Given the description of an element on the screen output the (x, y) to click on. 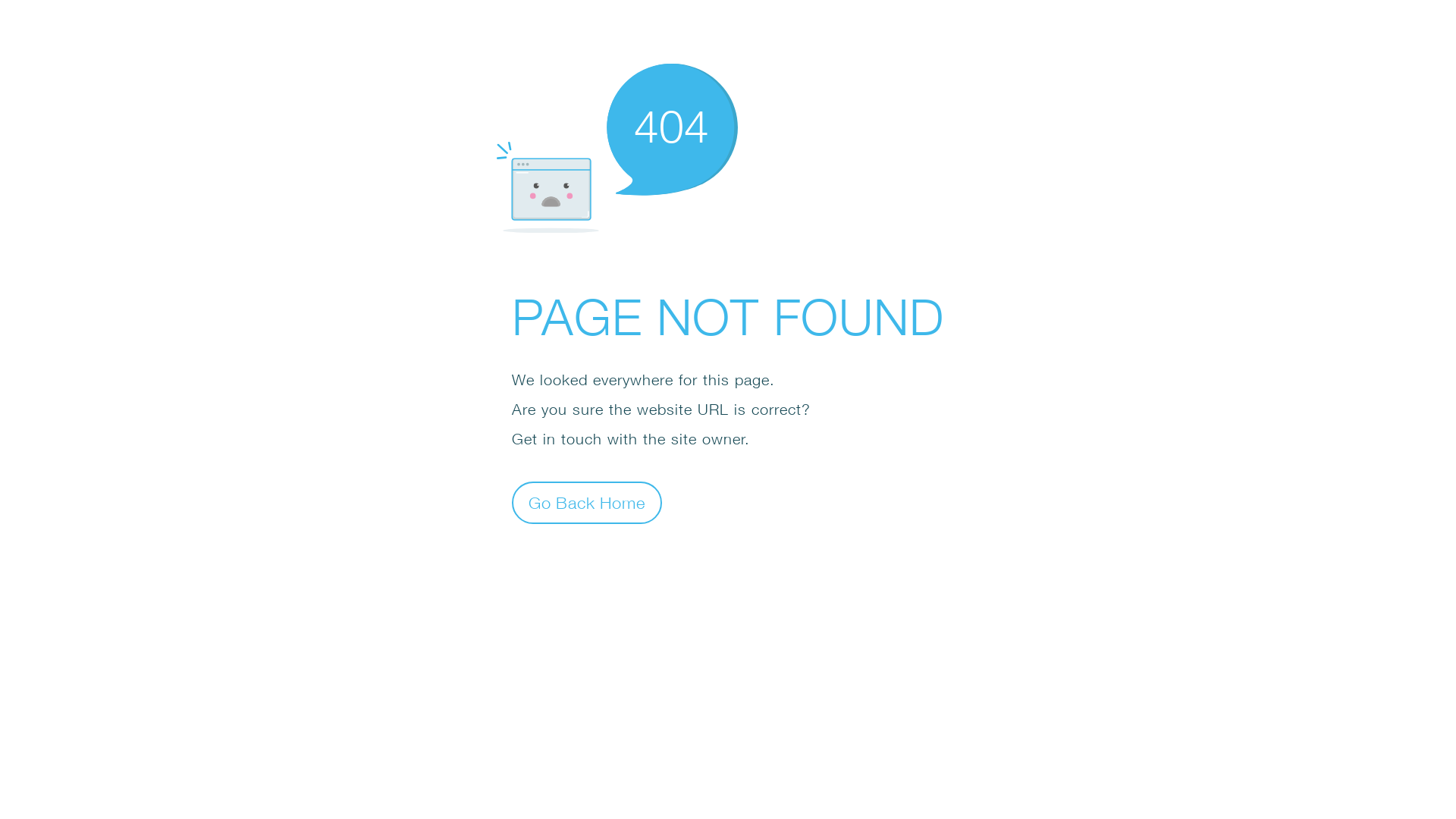
Go Back Home Element type: text (586, 502)
